Given the description of an element on the screen output the (x, y) to click on. 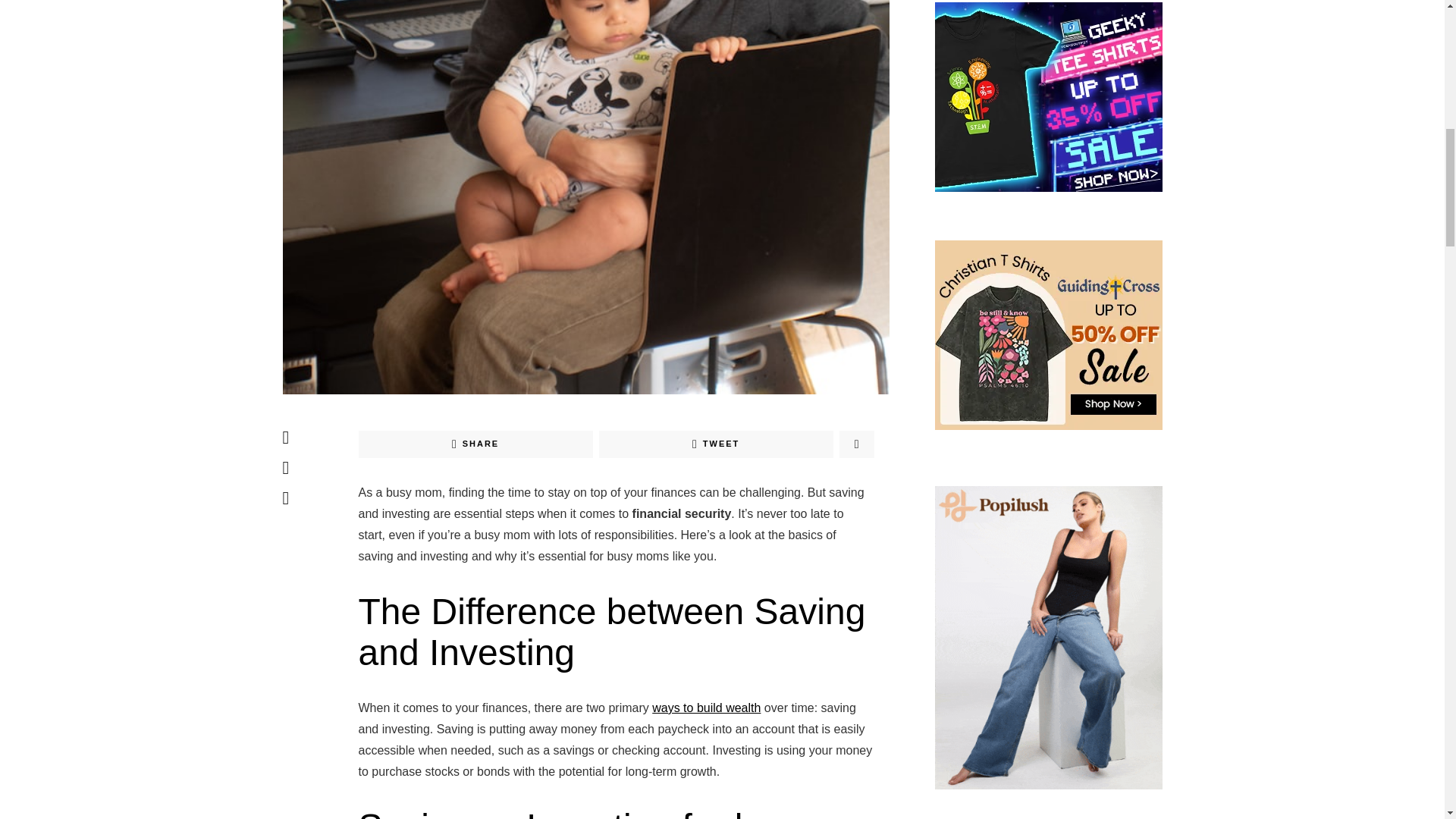
TWEET (715, 443)
ways to build wealth (706, 707)
SHARE (475, 443)
christian t shirts (1047, 333)
geek t shirt (1047, 95)
